Given the description of an element on the screen output the (x, y) to click on. 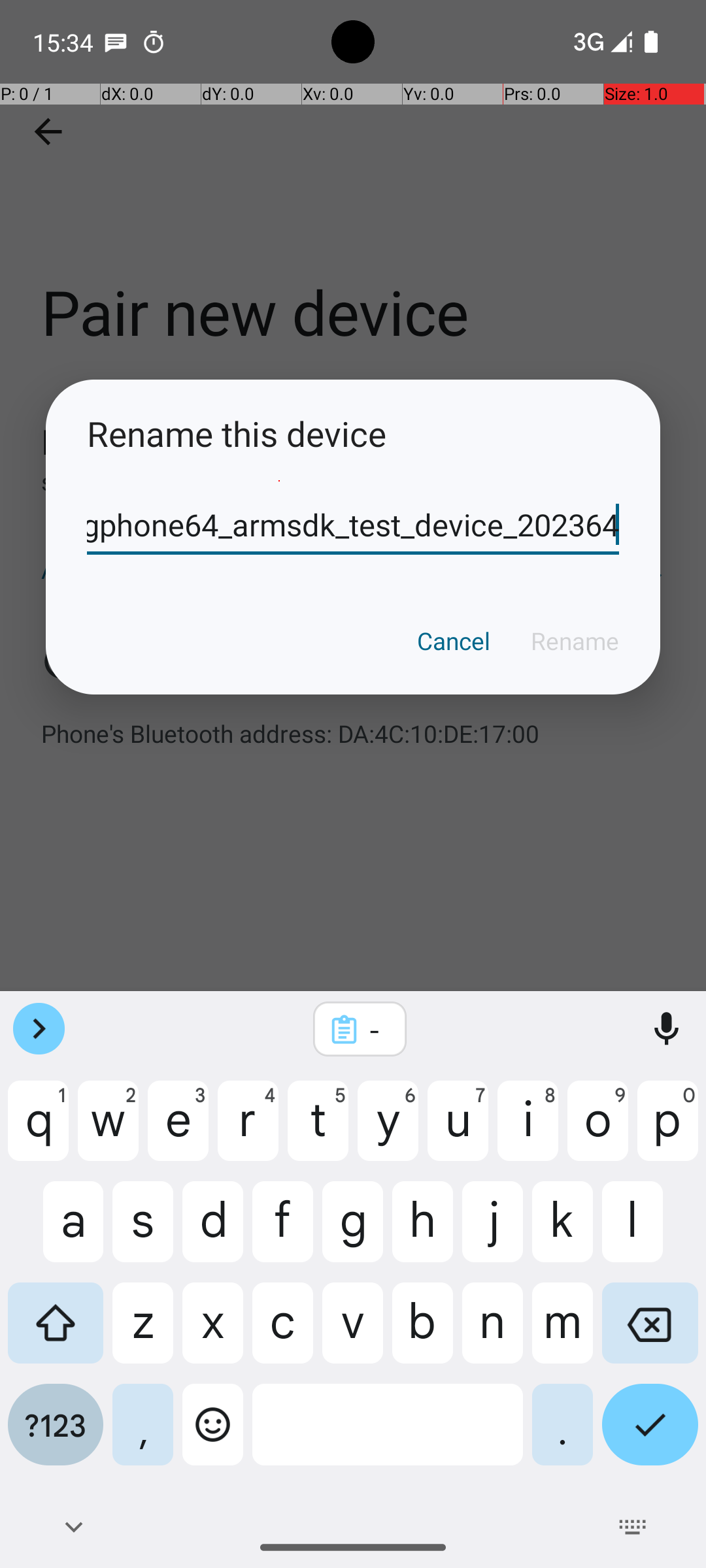
sdk_gphone64_armsdk_test_device_202364 Element type: android.widget.EditText (352, 525)
